Given the description of an element on the screen output the (x, y) to click on. 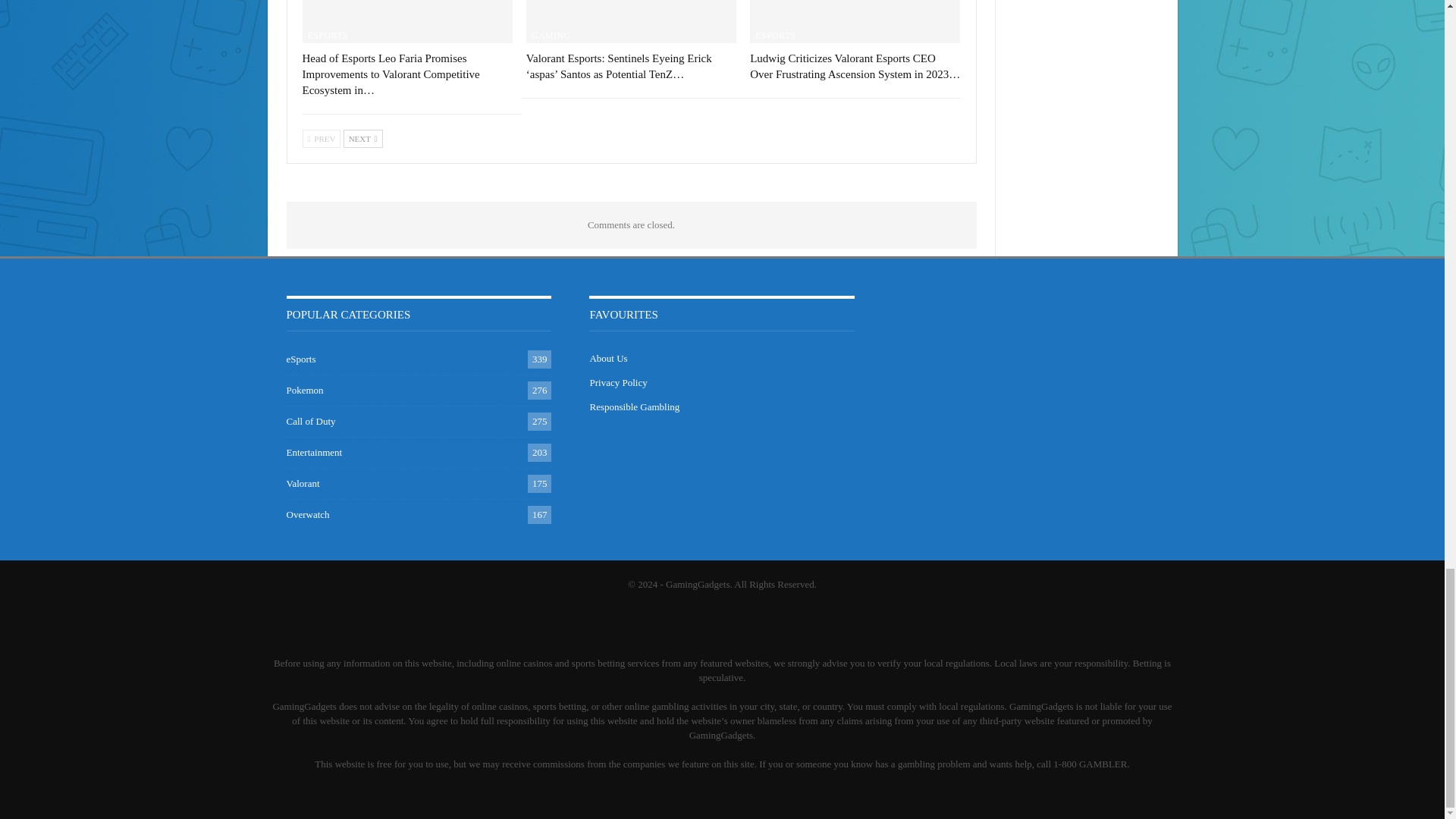
Next (362, 138)
Previous (320, 138)
